Given the description of an element on the screen output the (x, y) to click on. 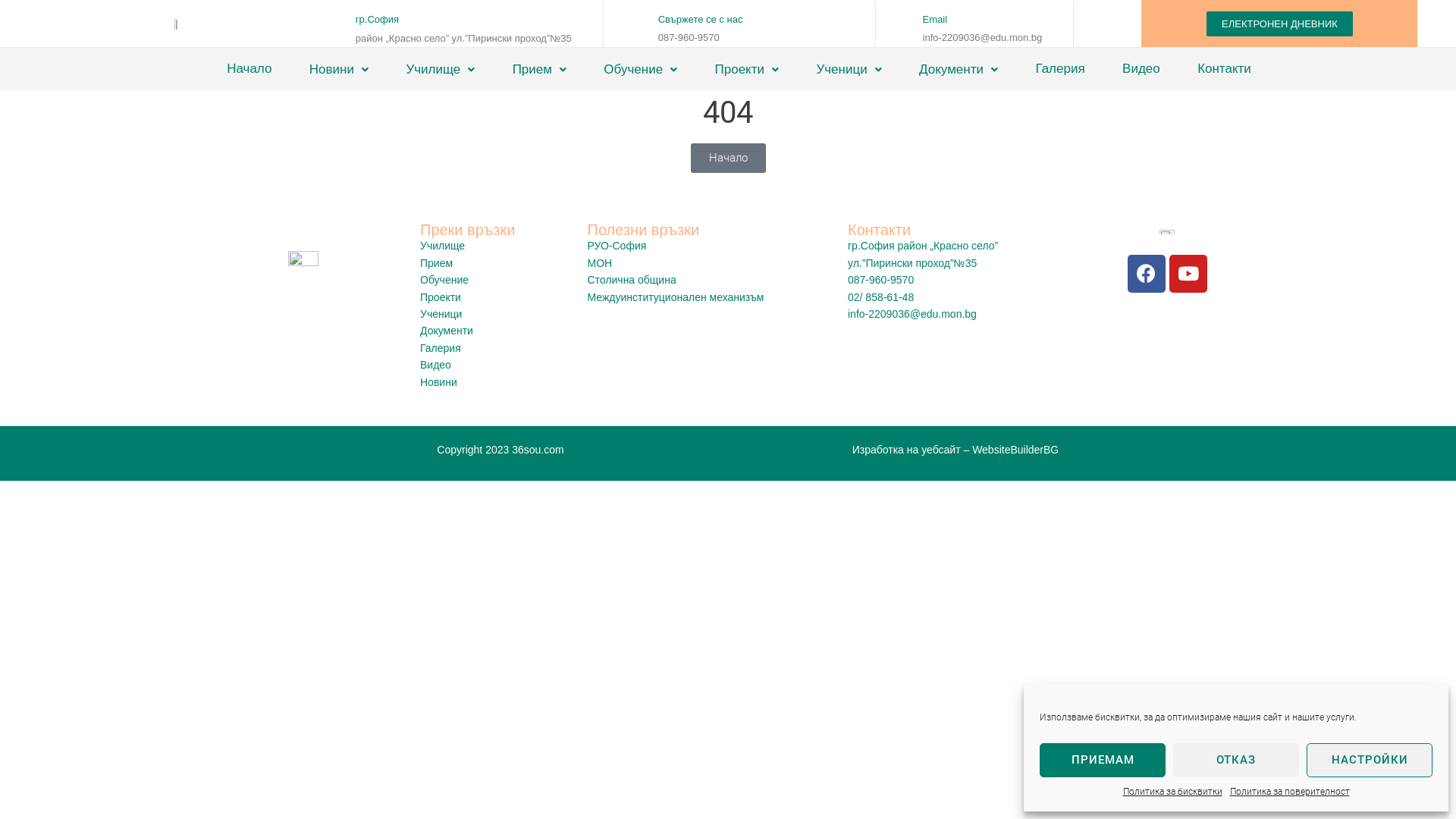
Copyright 2023 36sou.com Element type: text (499, 449)
Email Element type: text (934, 19)
087-960-9570 Element type: text (953, 279)
02/ 858-61-48
info-2209036@edu.mon.bg Element type: text (953, 305)
WebsiteBuilderBG Element type: text (1015, 449)
